Given the description of an element on the screen output the (x, y) to click on. 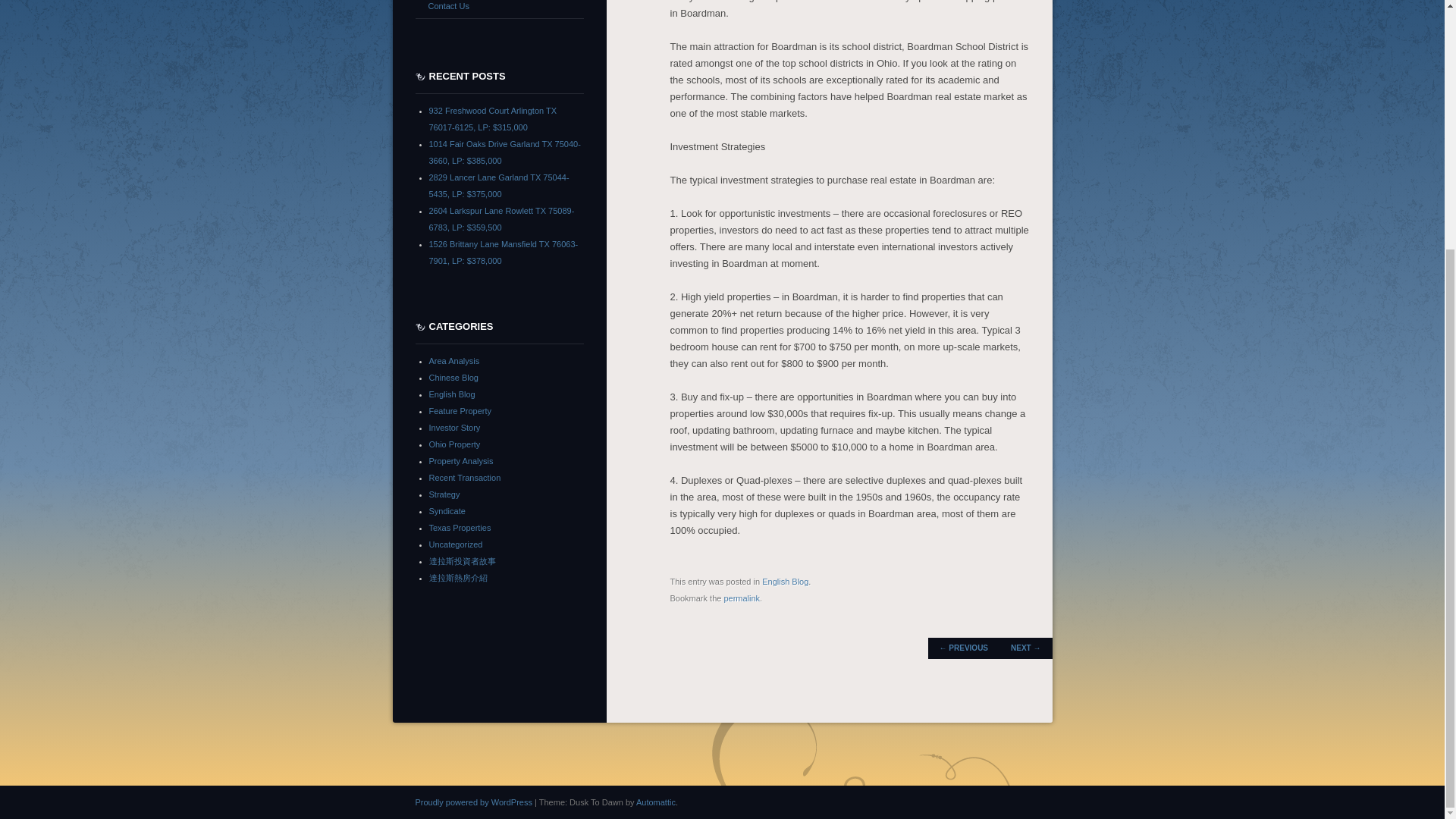
English Blog (452, 393)
Area Analysis (454, 359)
Proudly powered by WordPress (473, 800)
Recent Transaction (464, 476)
Texas Properties (460, 526)
Ohio Property (454, 442)
Uncategorized (456, 542)
English Blog (784, 581)
Feature Property (460, 409)
Investor Story (454, 426)
Strategy (444, 492)
Chinese Blog (454, 376)
Contact Us (498, 8)
Property Analysis (461, 460)
permalink (741, 597)
